Given the description of an element on the screen output the (x, y) to click on. 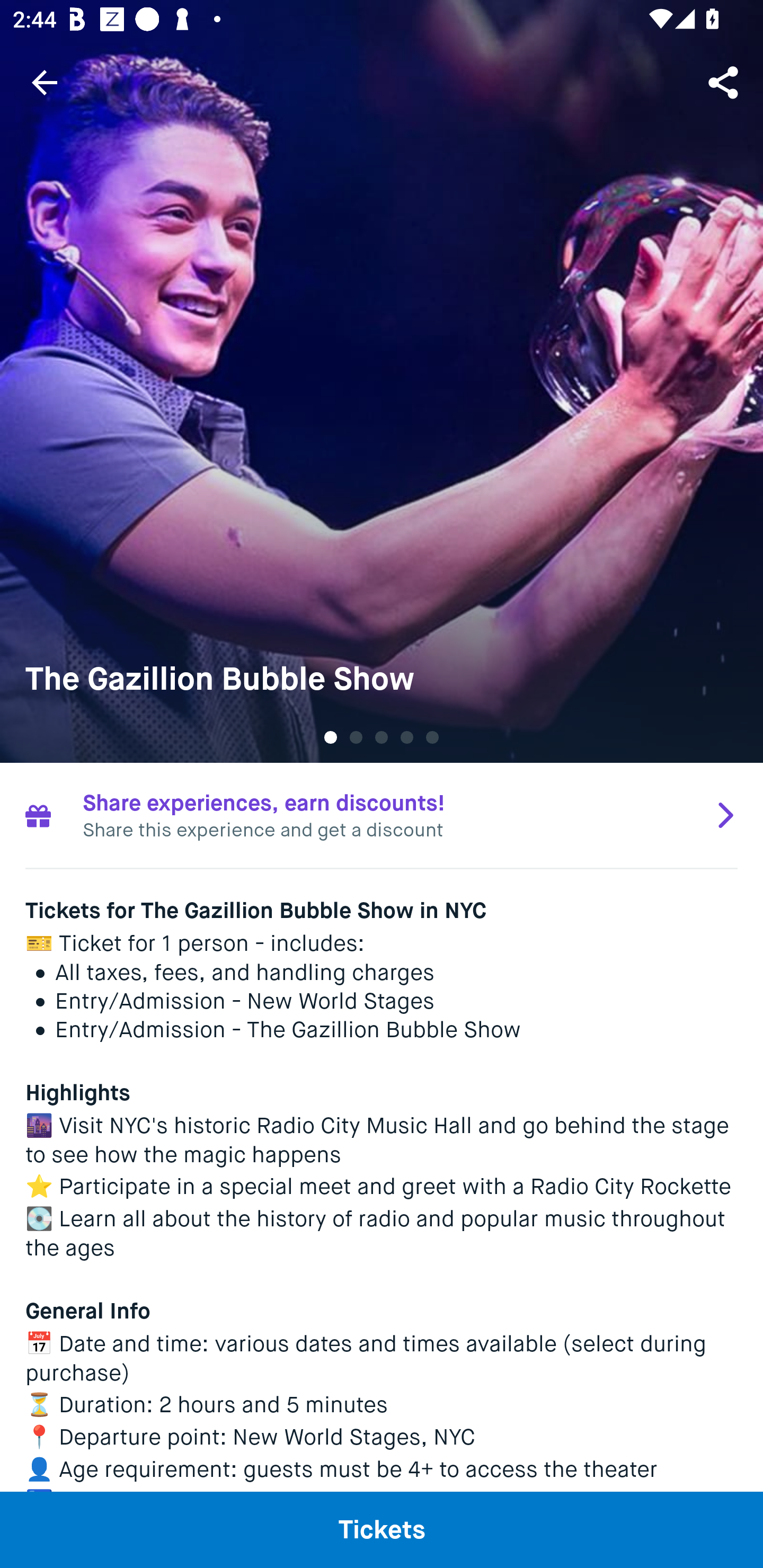
Navigate up (44, 82)
Share (724, 81)
Tickets (381, 1529)
